Given the description of an element on the screen output the (x, y) to click on. 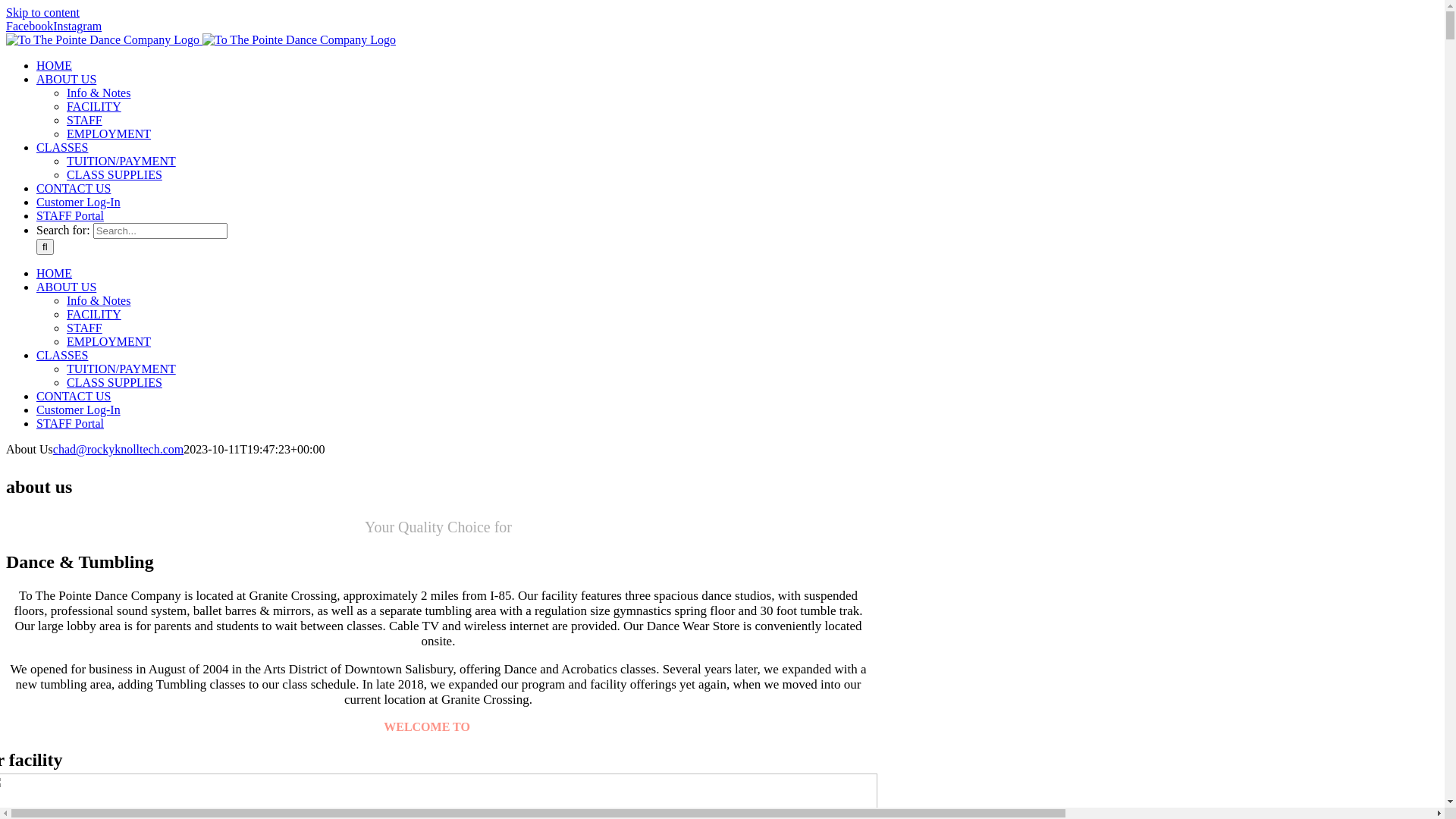
CLASSES Element type: text (61, 147)
Customer Log-In Element type: text (78, 201)
Facebook Element type: text (29, 25)
Info & Notes Element type: text (98, 300)
chad@rockyknolltech.com Element type: text (118, 448)
Info & Notes Element type: text (98, 92)
HOME Element type: text (54, 272)
HOME Element type: text (54, 65)
FACILITY Element type: text (93, 106)
STAFF Portal Element type: text (69, 215)
ABOUT US Element type: text (66, 78)
STAFF Portal Element type: text (69, 423)
Customer Log-In Element type: text (78, 409)
STAFF Element type: text (84, 119)
Instagram Element type: text (77, 25)
CONTACT US Element type: text (73, 188)
Skip to content Element type: text (42, 12)
CLASS SUPPLIES Element type: text (114, 382)
CONTACT US Element type: text (73, 395)
CLASS SUPPLIES Element type: text (114, 174)
TUITION/PAYMENT Element type: text (120, 160)
EMPLOYMENT Element type: text (108, 133)
FACILITY Element type: text (93, 313)
STAFF Element type: text (84, 327)
ABOUT US Element type: text (66, 286)
EMPLOYMENT Element type: text (108, 341)
TUITION/PAYMENT Element type: text (120, 368)
CLASSES Element type: text (61, 354)
